Given the description of an element on the screen output the (x, y) to click on. 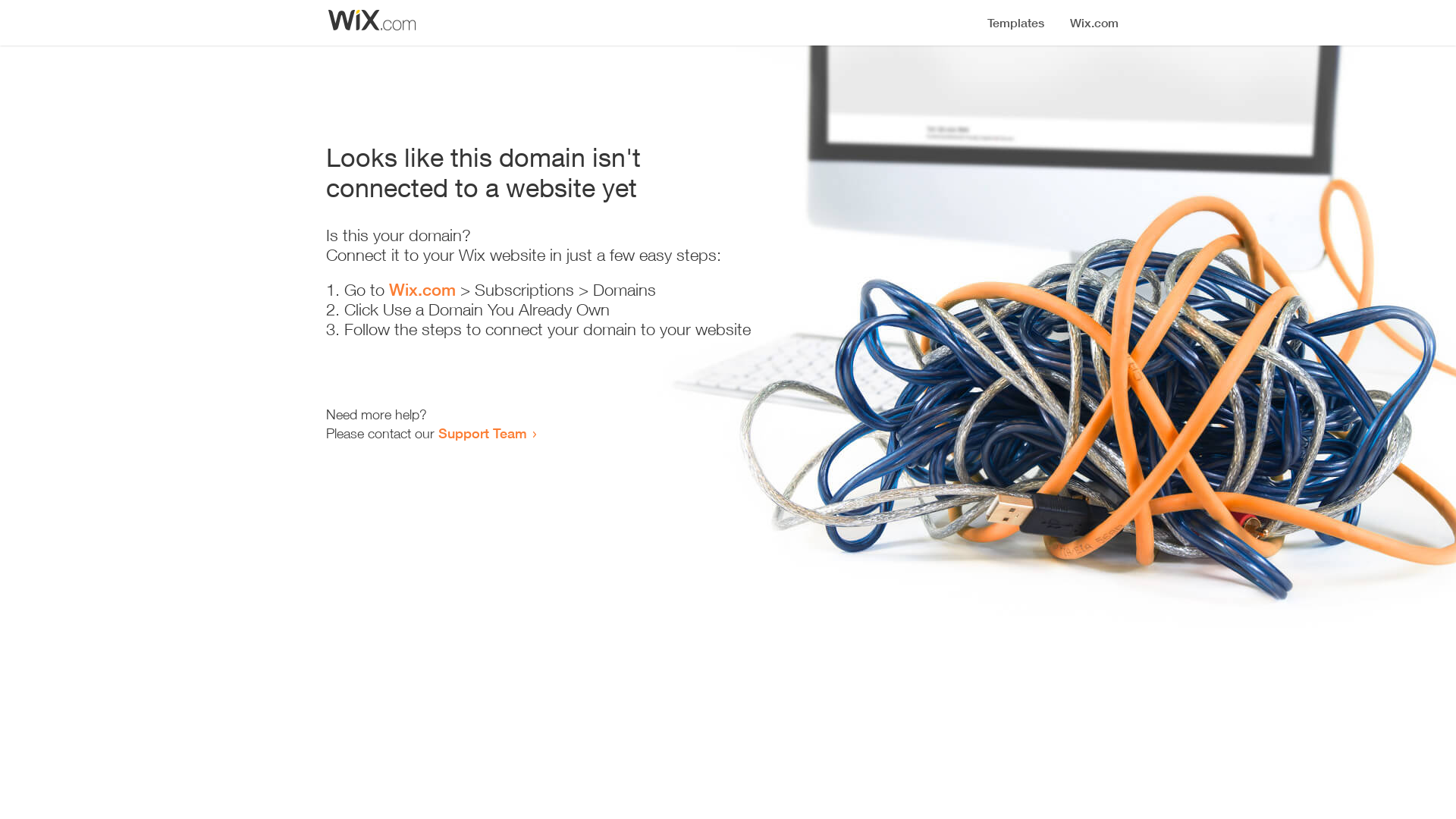
Wix.com Element type: text (422, 289)
Support Team Element type: text (482, 432)
